Given the description of an element on the screen output the (x, y) to click on. 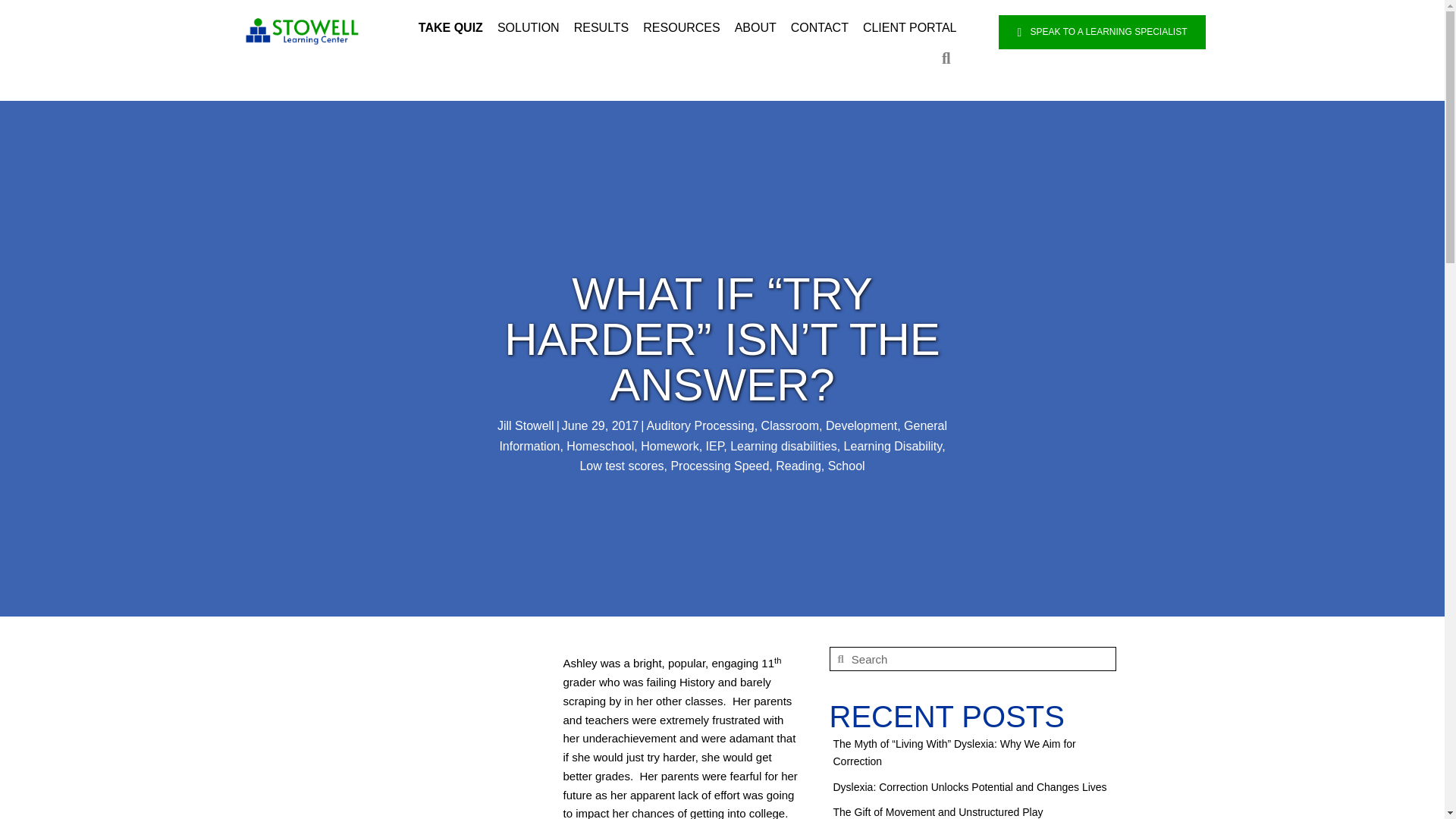
ABOUT (755, 27)
TAKE QUIZ (450, 27)
RESULTS (601, 27)
2022-SLC-LOGO-01 (302, 30)
SOLUTION (528, 27)
Search (979, 658)
Dyslexia: Correction Unlocks Potential and Changes Lives (969, 787)
The Gift of Movement and Unstructured Play (937, 811)
RESOURCES (681, 27)
